Given the description of an element on the screen output the (x, y) to click on. 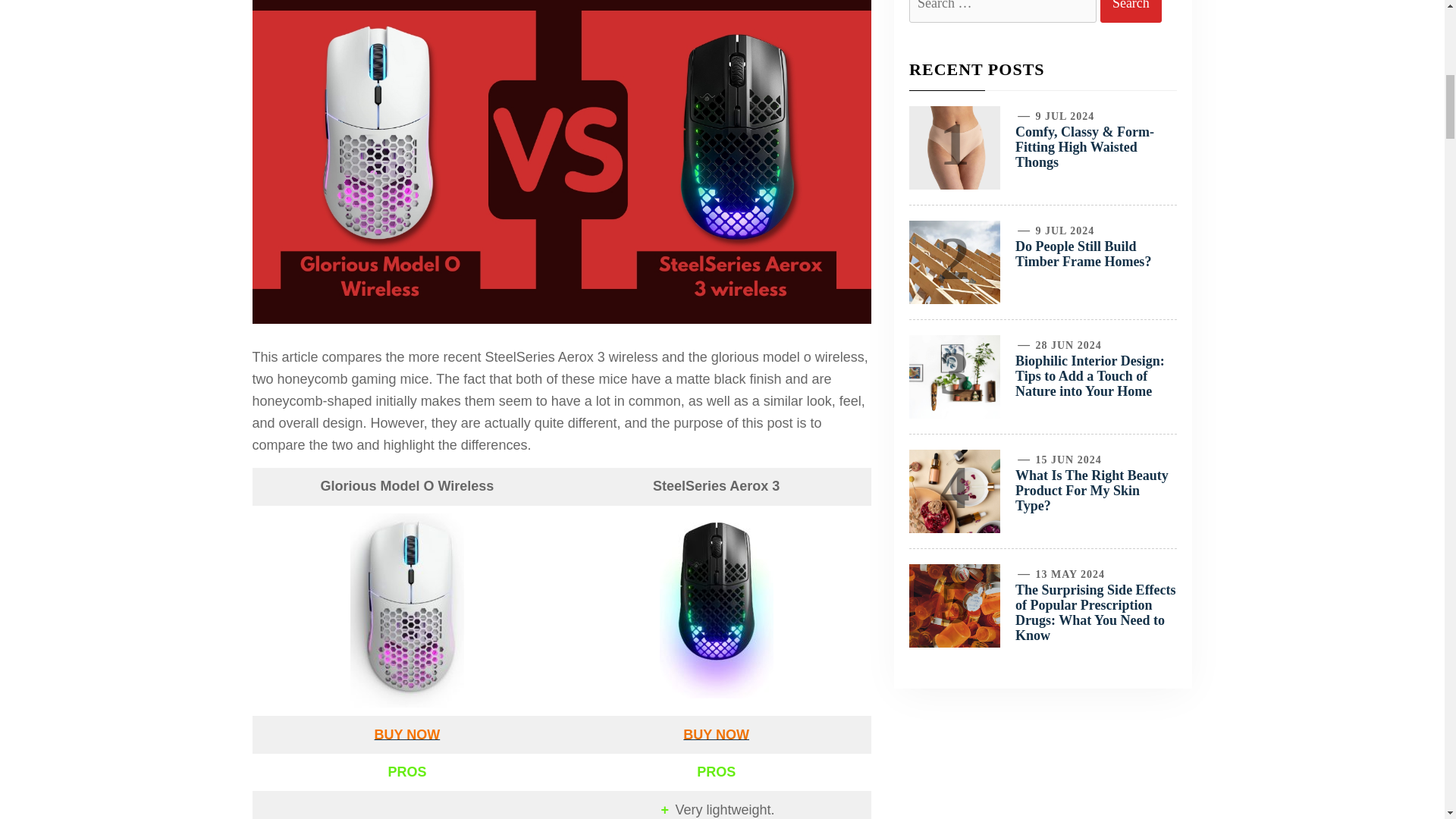
BUY NOW (406, 733)
BUY NOW (716, 733)
Search (1130, 11)
Search (1130, 11)
